Given the description of an element on the screen output the (x, y) to click on. 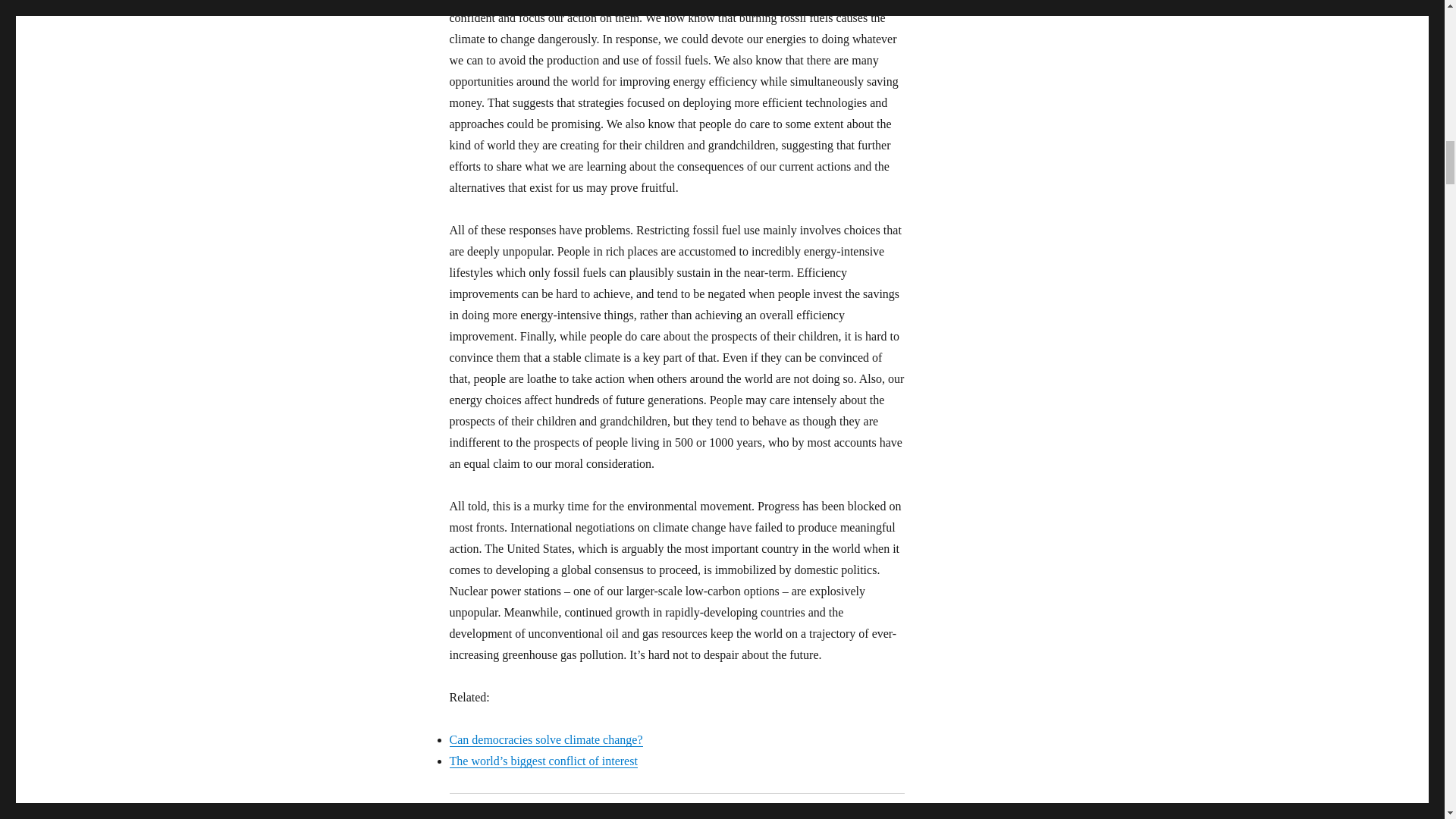
Can democracies solve climate change? (545, 739)
Can democracies solve climate change? (545, 739)
